Given the description of an element on the screen output the (x, y) to click on. 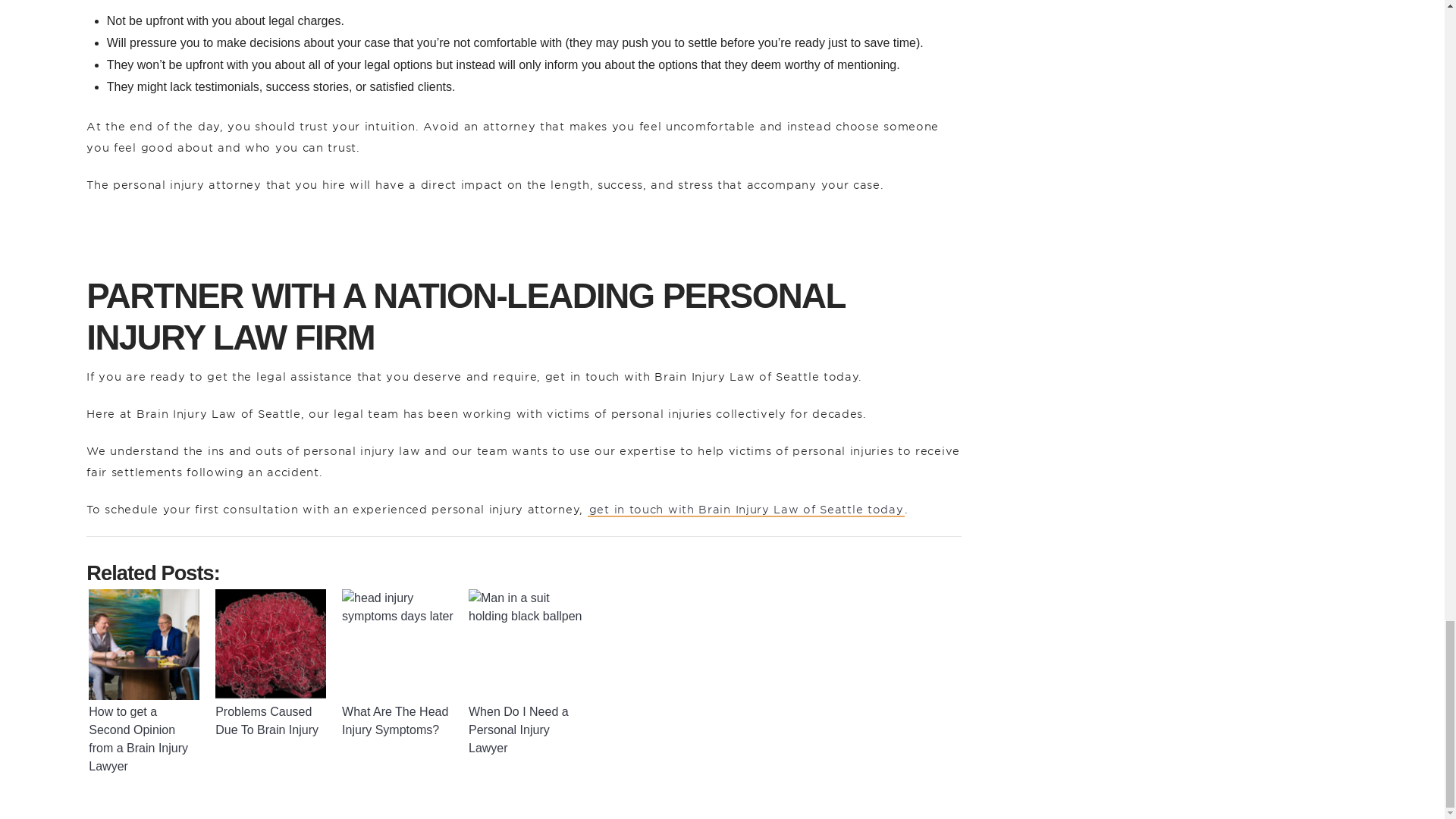
How to get a Second Opinion from a Brain Injury Lawyer (143, 644)
Problems Caused Due To Brain Injury (270, 644)
When Do I Need a Personal Injury Lawyer (525, 645)
What Are The Head Injury Symptoms? (398, 645)
